Given the description of an element on the screen output the (x, y) to click on. 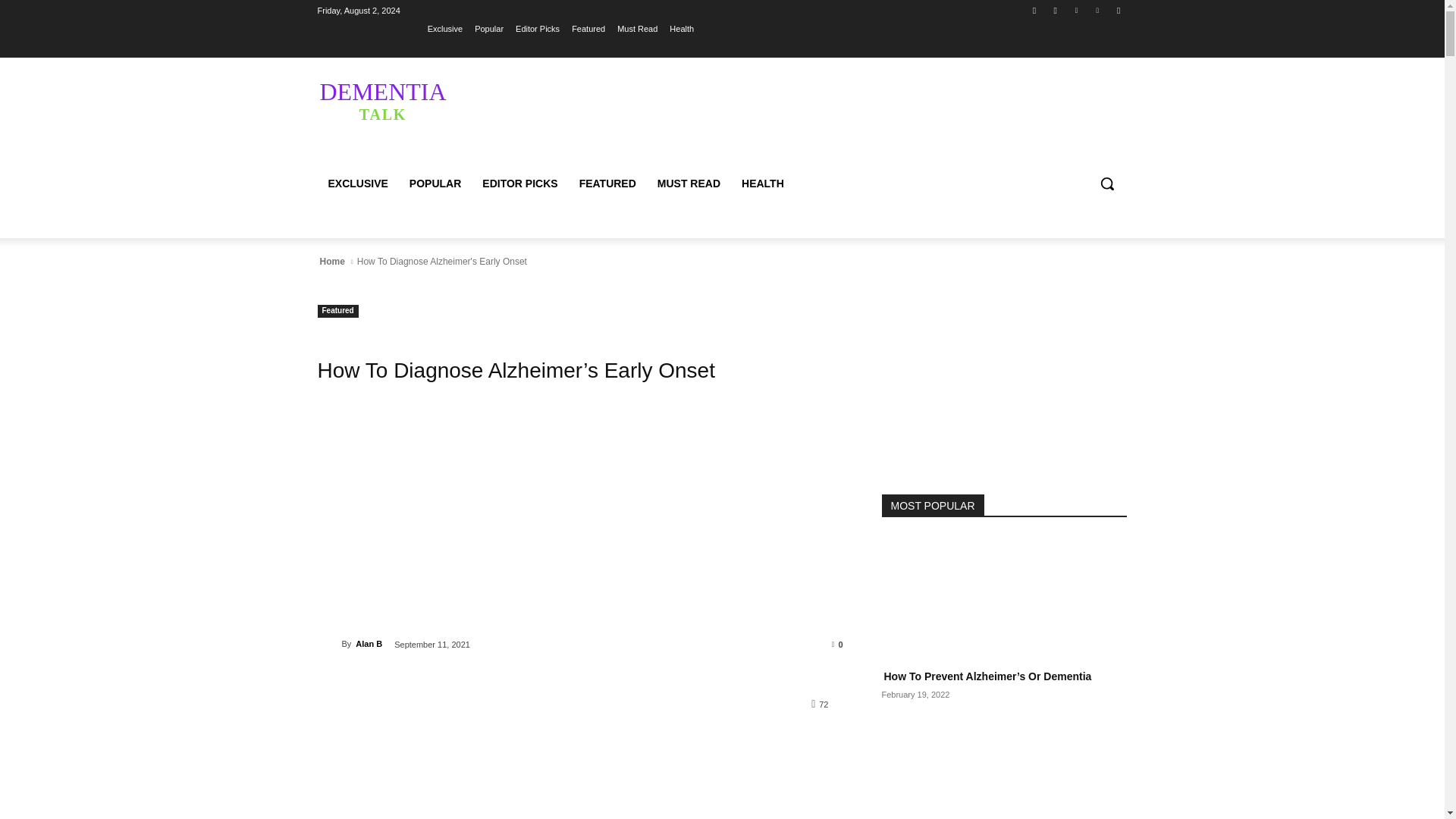
EDITOR PICKS (519, 183)
Facebook (1034, 9)
Popular (488, 28)
HEALTH (762, 183)
Vimeo (1097, 9)
POPULAR (434, 183)
Alan B (328, 643)
EXCLUSIVE (357, 183)
Twitter (1075, 9)
Editor Picks (537, 28)
